Given the description of an element on the screen output the (x, y) to click on. 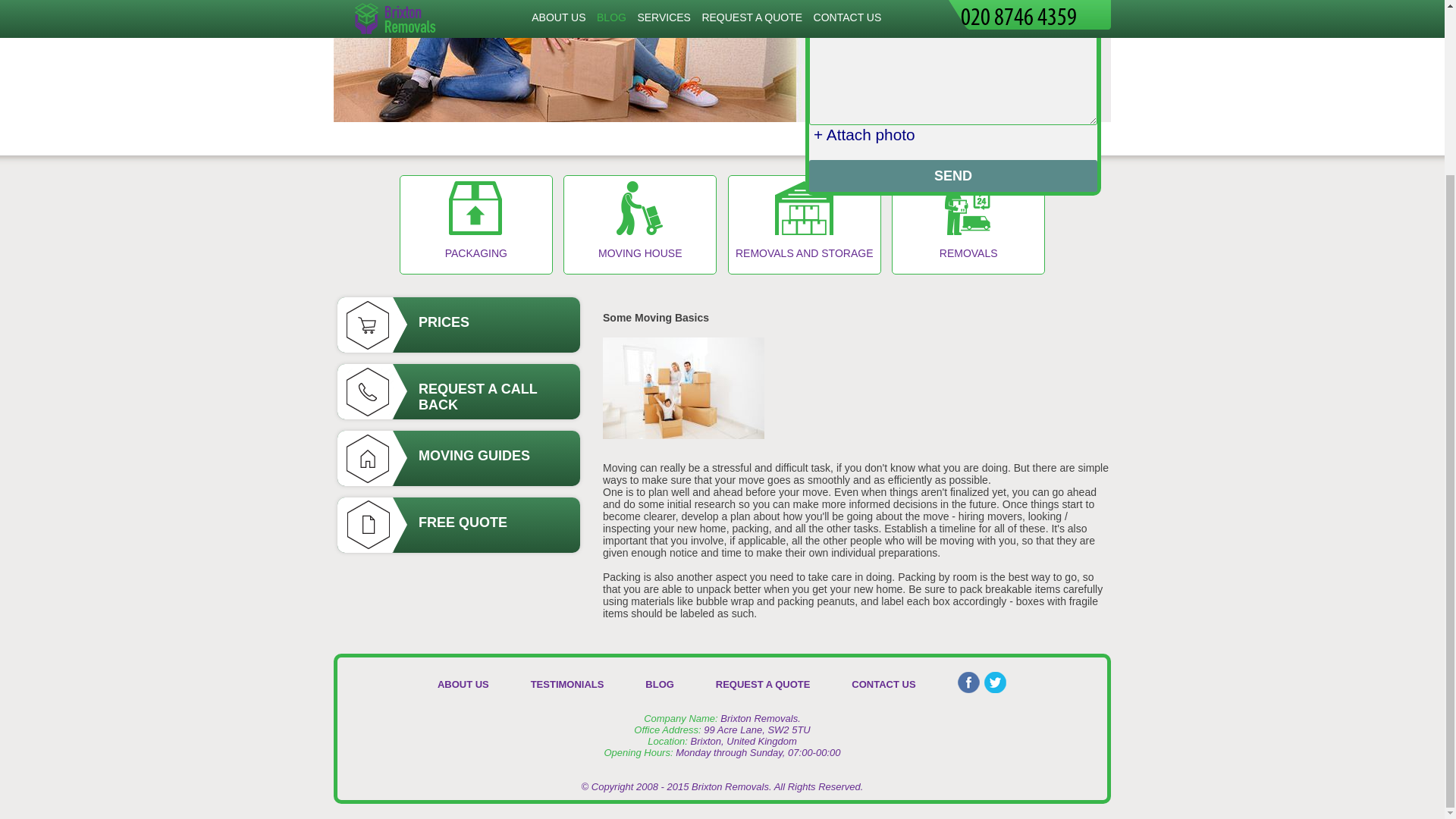
CONTACT US (883, 684)
PRICES (458, 324)
SEND (953, 175)
TESTIMONIALS (567, 684)
REQUEST A CALL BACK (458, 391)
ABOUT US (463, 684)
FREE QUOTE (458, 524)
MOVING GUIDES (458, 458)
BLOG (659, 684)
REMOVALS AND STORAGE (804, 224)
